Given the description of an element on the screen output the (x, y) to click on. 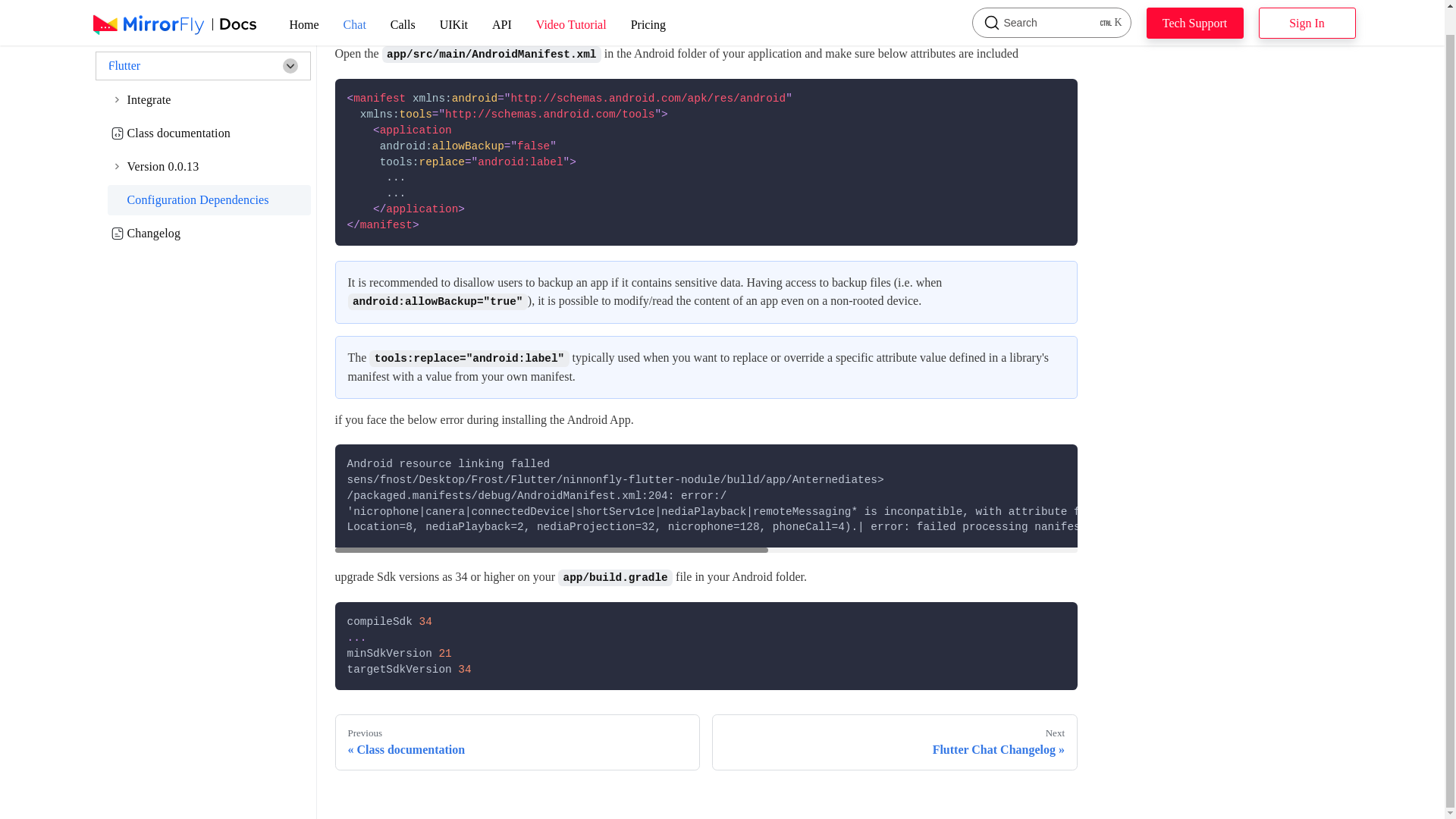
Calls (1051, 6)
Chat (403, 6)
UIKit (354, 6)
Home (706, 645)
API (454, 6)
Pricing (304, 6)
Video Tutorial (502, 6)
Tech Support (648, 6)
Sign In (571, 6)
Flutter (1195, 6)
